Given the description of an element on the screen output the (x, y) to click on. 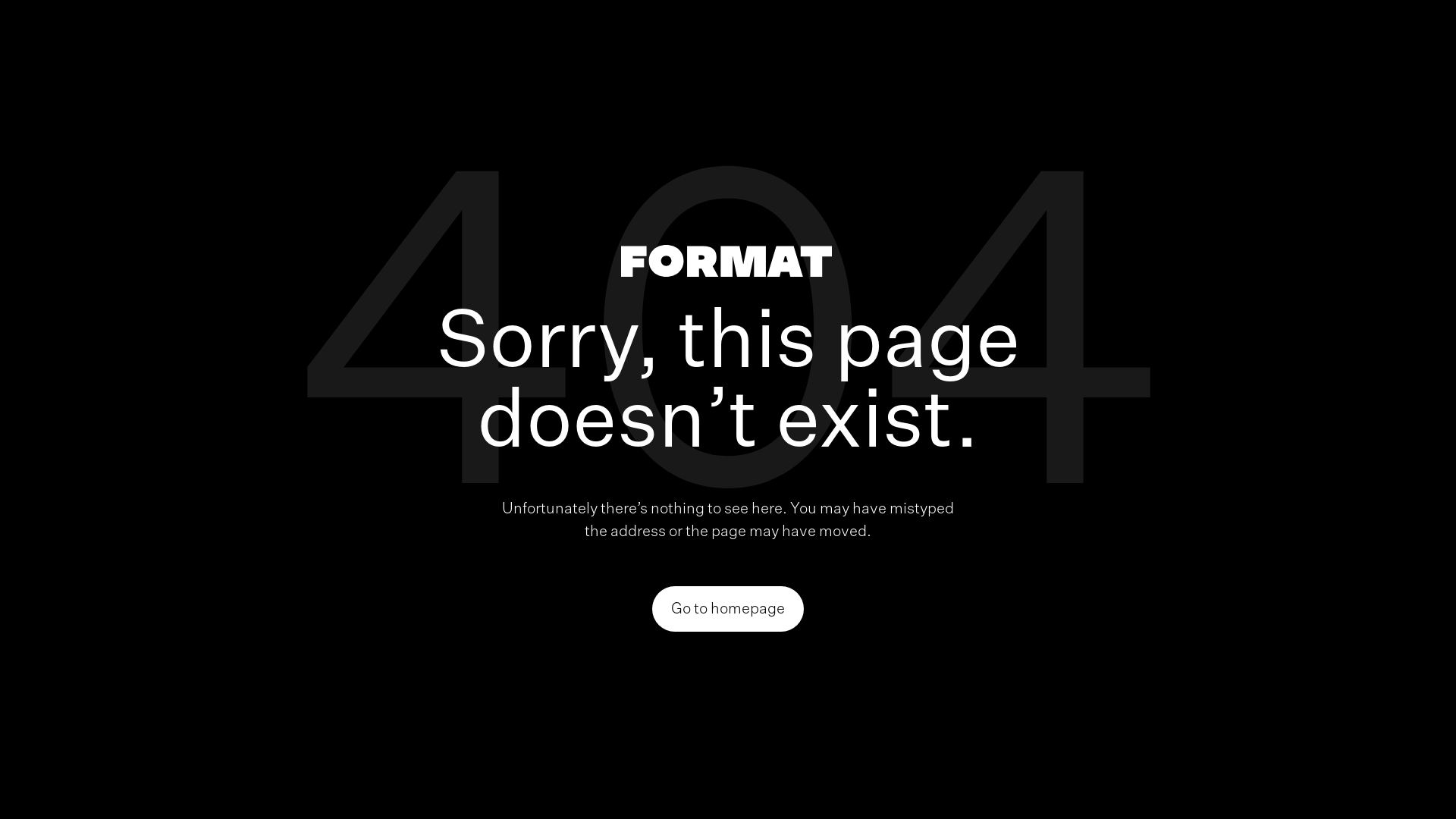
Go to homepage Element type: text (727, 608)
